Given the description of an element on the screen output the (x, y) to click on. 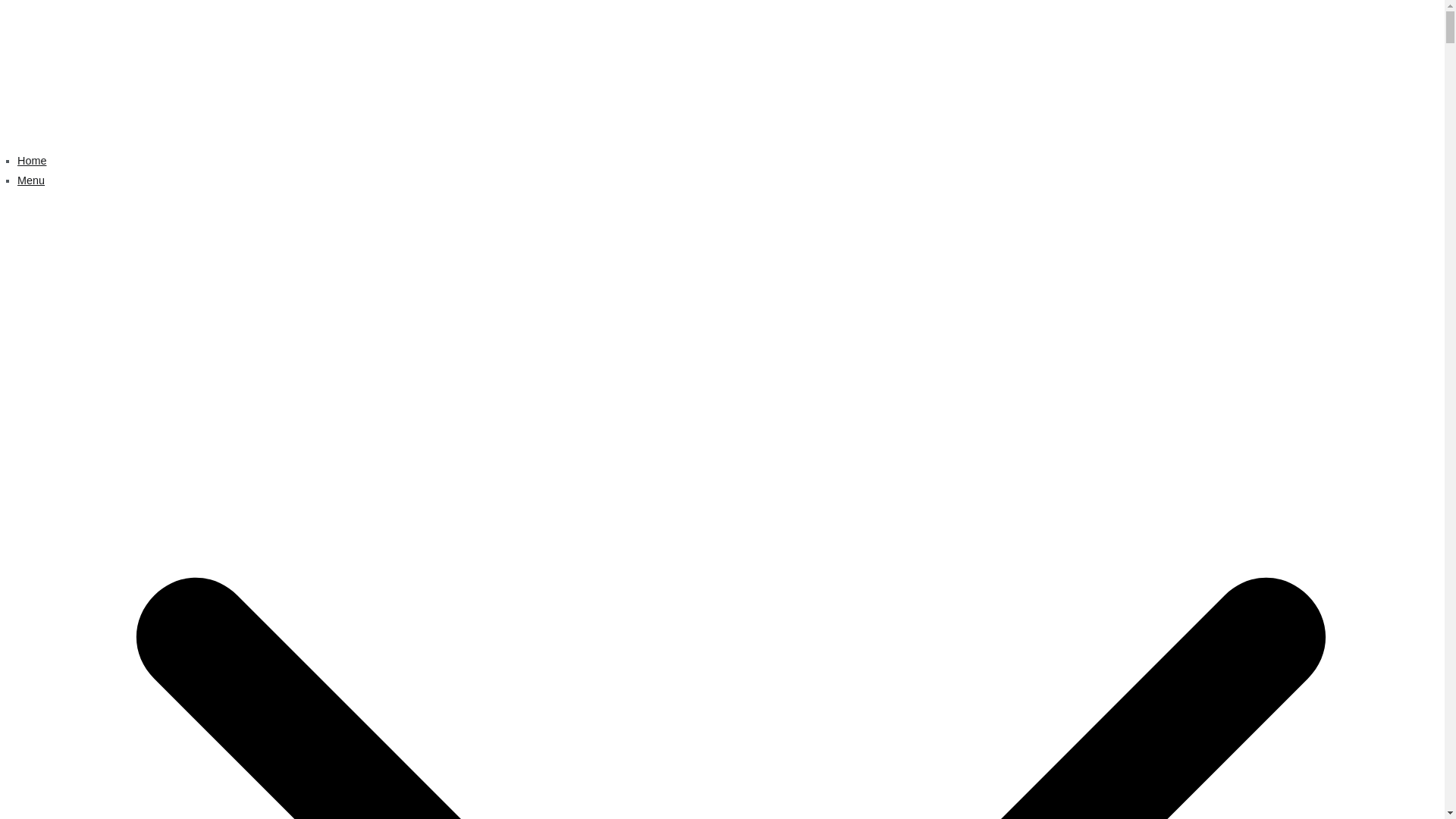
Munchas Cafe (213, 85)
Home (31, 160)
